Given the description of an element on the screen output the (x, y) to click on. 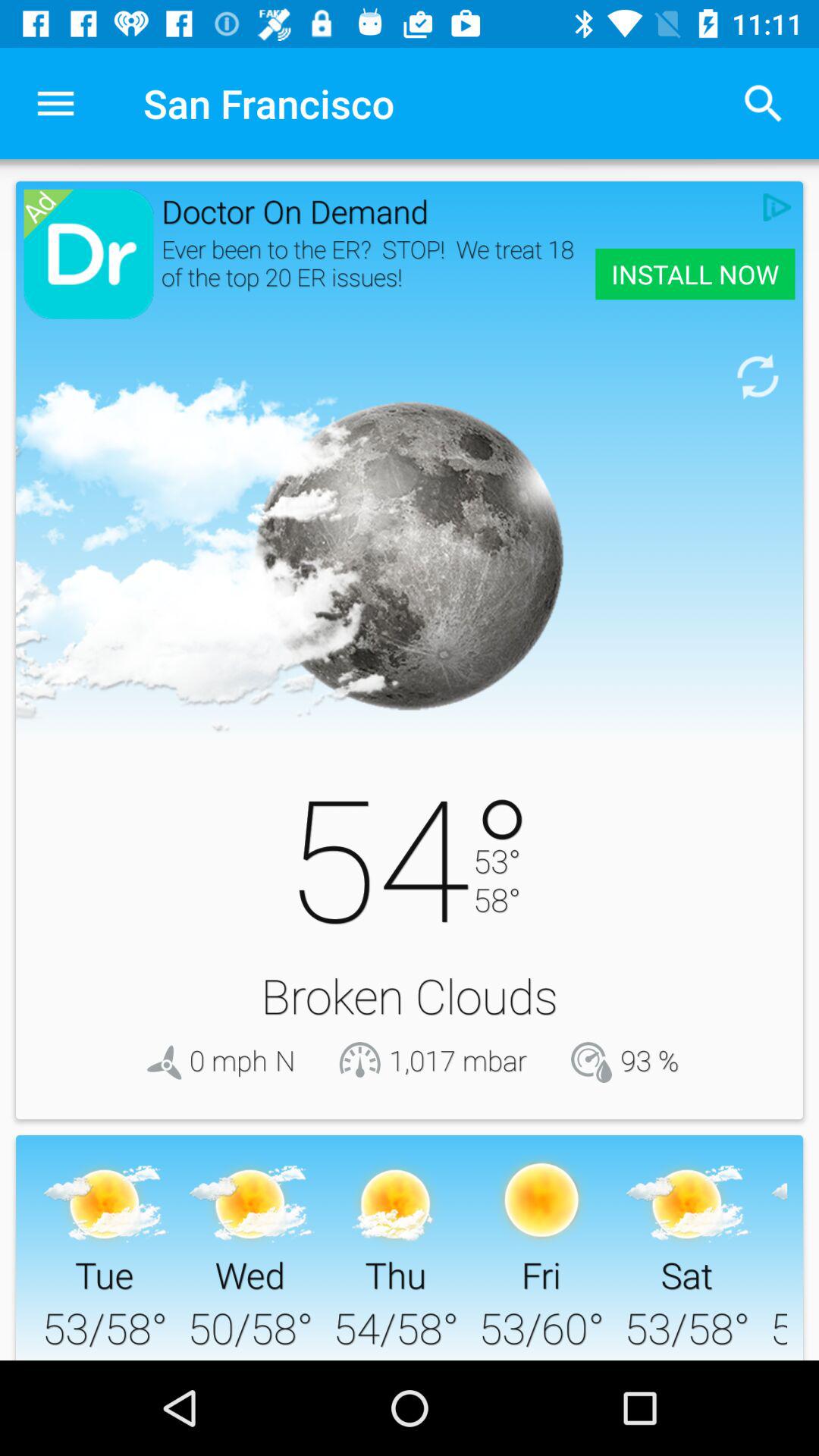
tap the item next to ever been to icon (694, 273)
